Given the description of an element on the screen output the (x, y) to click on. 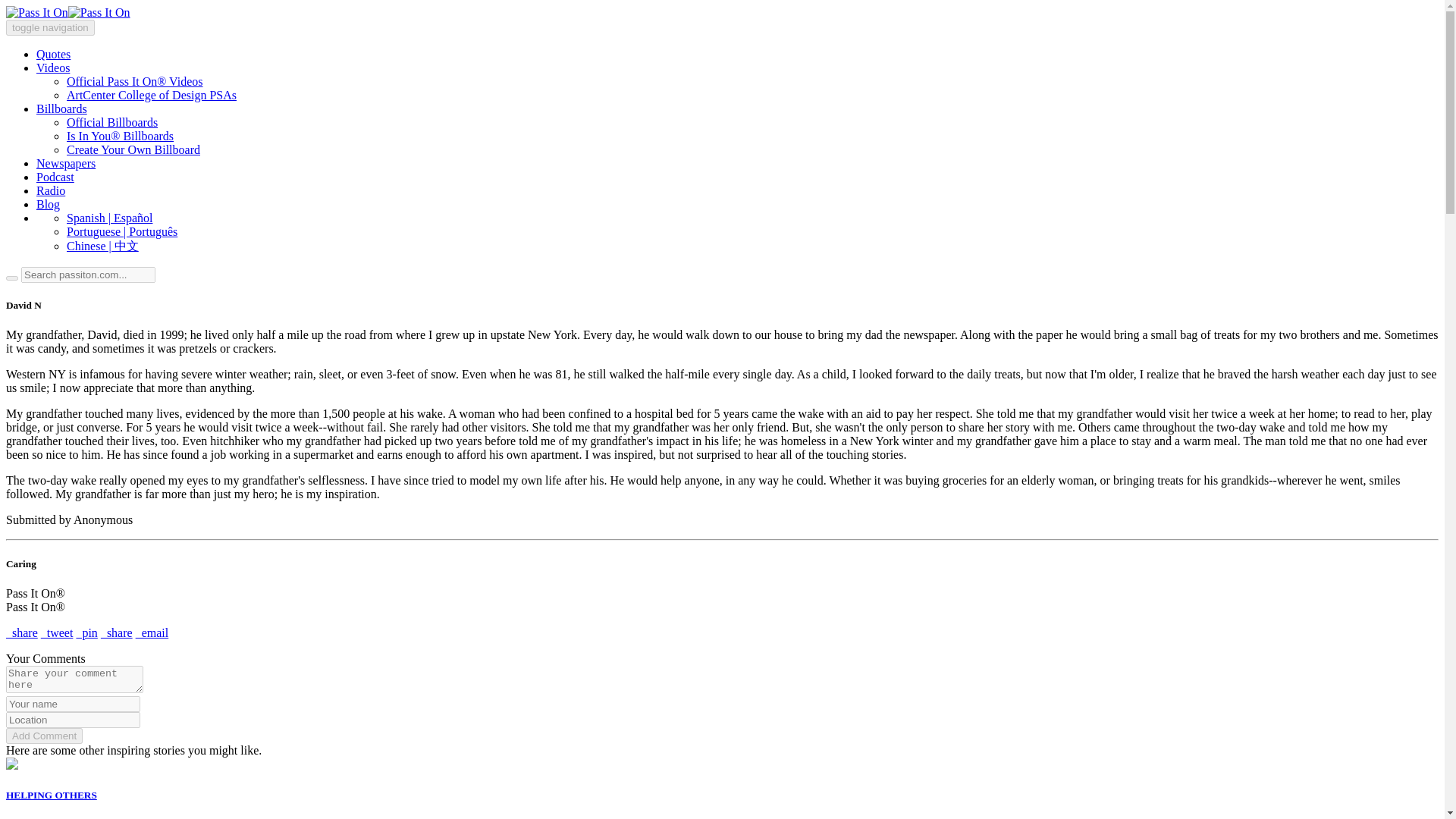
Quotes (52, 53)
Radio (50, 190)
  tweet (57, 632)
Add Comment (43, 735)
Blog (47, 204)
  pin (86, 632)
Official Billboards (111, 122)
  share (116, 632)
HELPING OTHERS (51, 794)
  email (151, 632)
Videos (52, 67)
Newspapers (66, 163)
toggle navigation (49, 27)
Billboards (61, 108)
Podcast (55, 176)
